Given the description of an element on the screen output the (x, y) to click on. 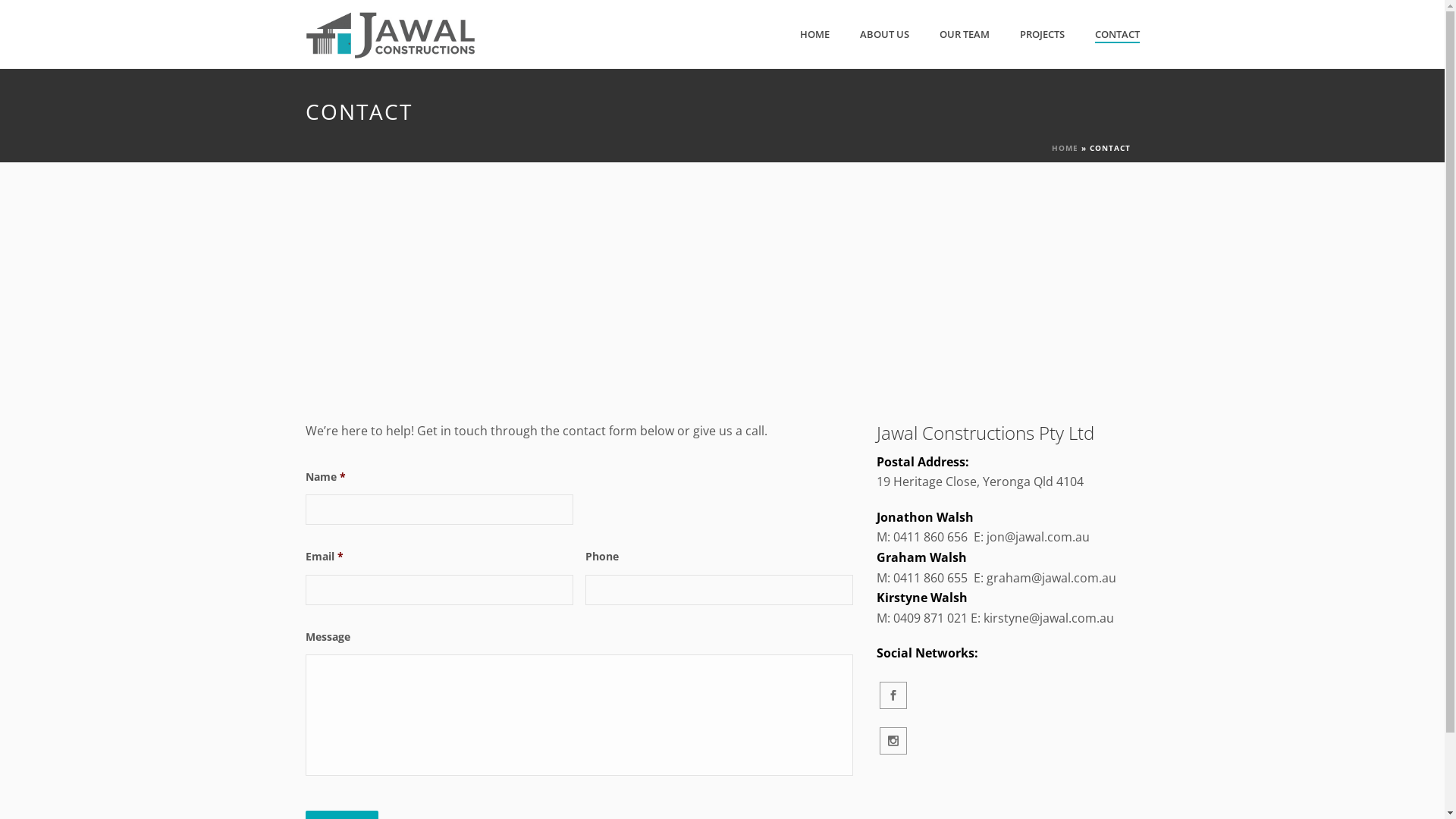
OUR TEAM Element type: text (963, 34)
Building Lasting Impressions Element type: hover (389, 34)
HOME Element type: text (1064, 147)
PROJECTS Element type: text (1041, 34)
MangoMatter Element type: text (827, 797)
HOME Element type: text (814, 34)
ABOUT US Element type: text (884, 34)
CONTACT Element type: text (1116, 34)
